Given the description of an element on the screen output the (x, y) to click on. 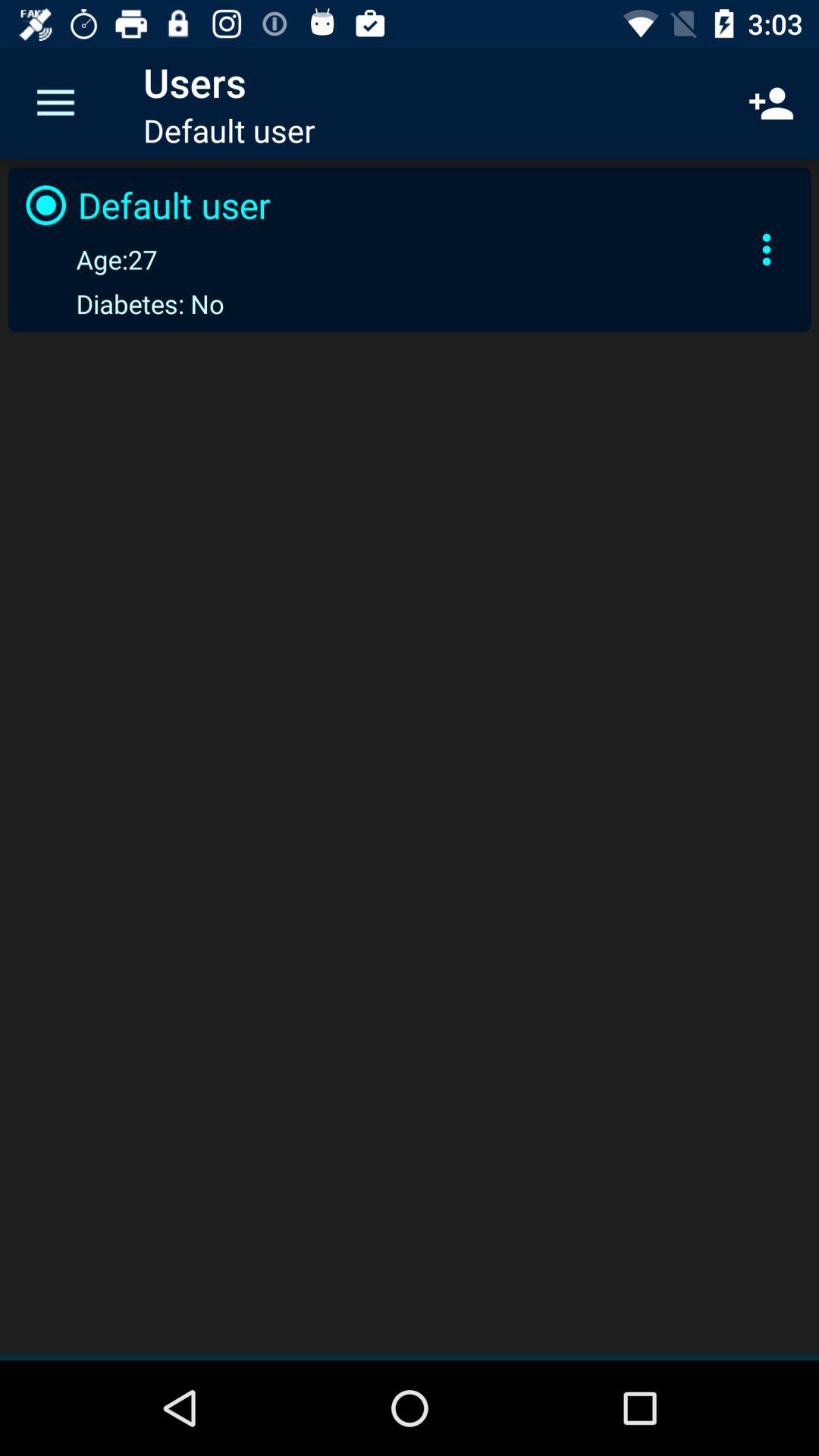
jump to the diabetes: no (121, 303)
